Given the description of an element on the screen output the (x, y) to click on. 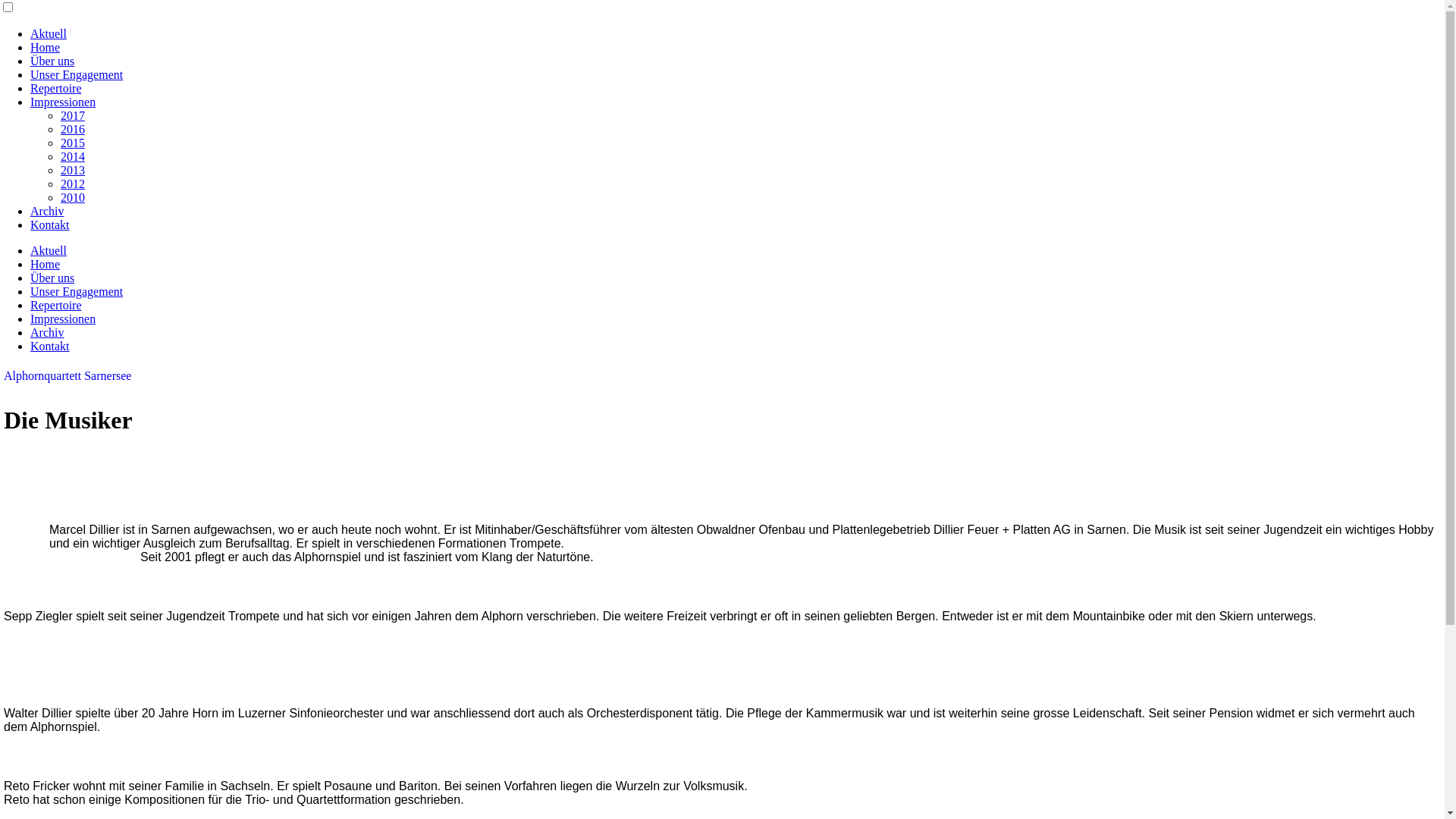
Alphornquartett Sarnersee Element type: text (67, 375)
Repertoire Element type: text (55, 304)
Archiv Element type: text (46, 332)
2012 Element type: text (72, 183)
Home Element type: text (44, 46)
Impressionen Element type: text (62, 101)
2010 Element type: text (72, 197)
Aktuell Element type: text (48, 33)
Archiv Element type: text (46, 210)
Kontakt Element type: text (49, 345)
Kontakt Element type: text (49, 224)
Repertoire Element type: text (55, 87)
2015 Element type: text (72, 142)
2016 Element type: text (72, 128)
Unser Engagement Element type: text (76, 291)
Aktuell Element type: text (48, 250)
2013 Element type: text (72, 169)
Home Element type: text (44, 263)
Unser Engagement Element type: text (76, 74)
2017 Element type: text (72, 115)
2014 Element type: text (72, 156)
Impressionen Element type: text (62, 318)
